Given the description of an element on the screen output the (x, y) to click on. 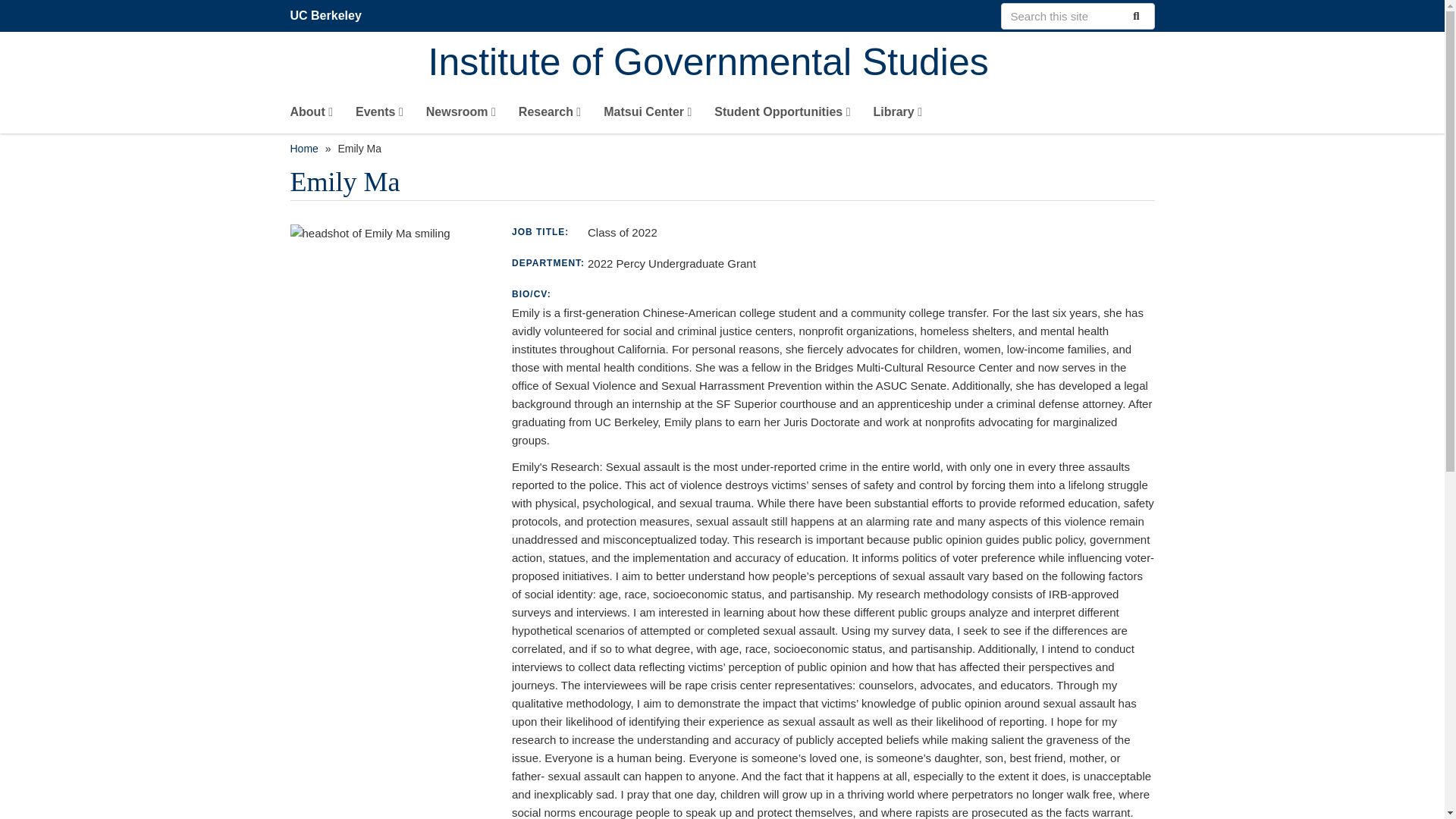
Submit Search (1133, 15)
Institute of Governmental Studies (791, 63)
Student Opportunities (782, 115)
UC Berkeley (325, 15)
Home (791, 63)
Events (379, 115)
Newsroom (461, 115)
About (311, 115)
Matsui Center (647, 115)
Research (549, 115)
